Given the description of an element on the screen output the (x, y) to click on. 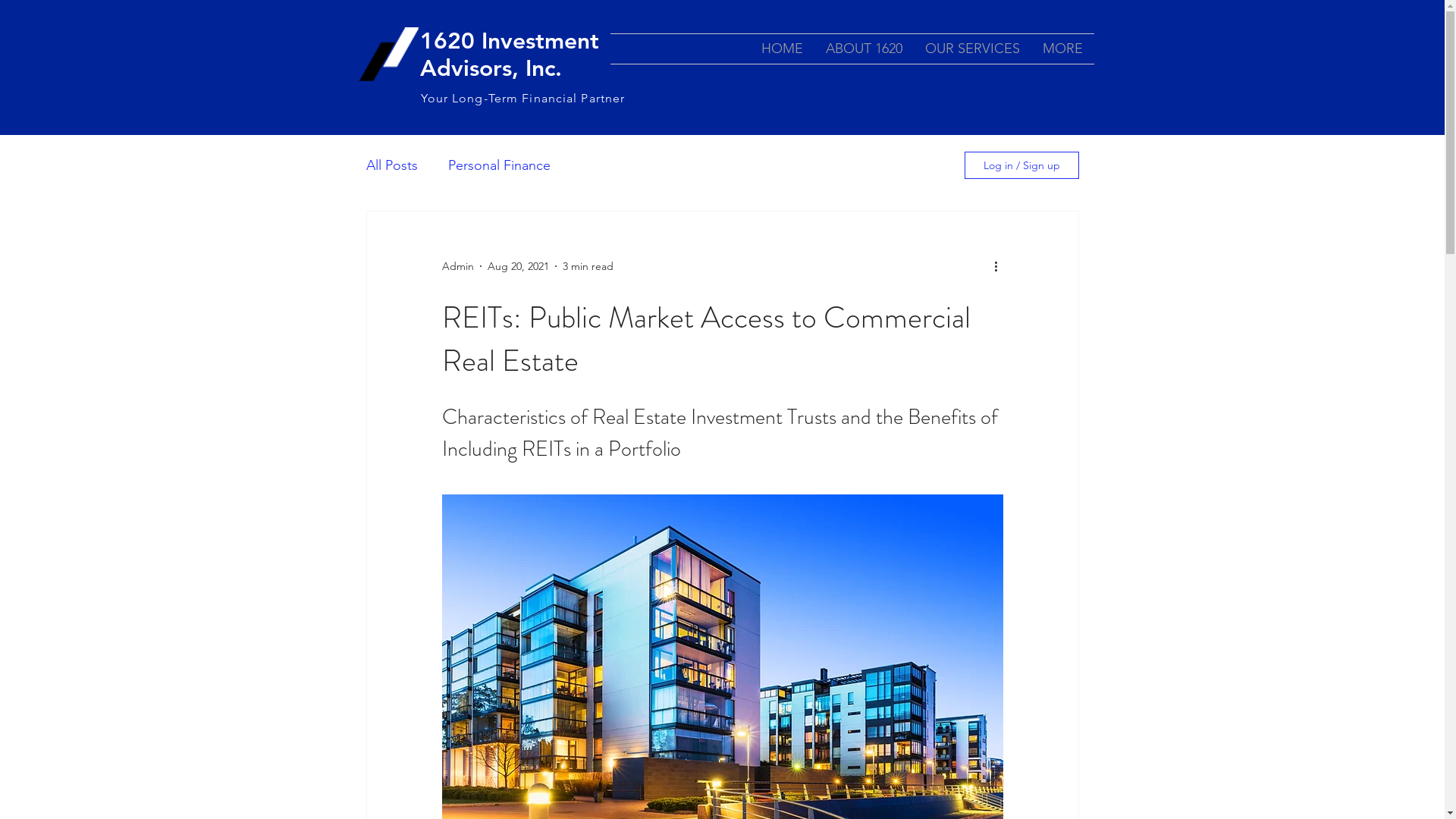
Log in / Sign up Element type: text (1021, 164)
Personal Finance Element type: text (498, 164)
All Posts Element type: text (391, 164)
1620 Investment Advisors, Inc.  Element type: text (509, 54)
Your Long-Term Financial Partner Element type: text (522, 97)
HOME Element type: text (781, 48)
